Given the description of an element on the screen output the (x, y) to click on. 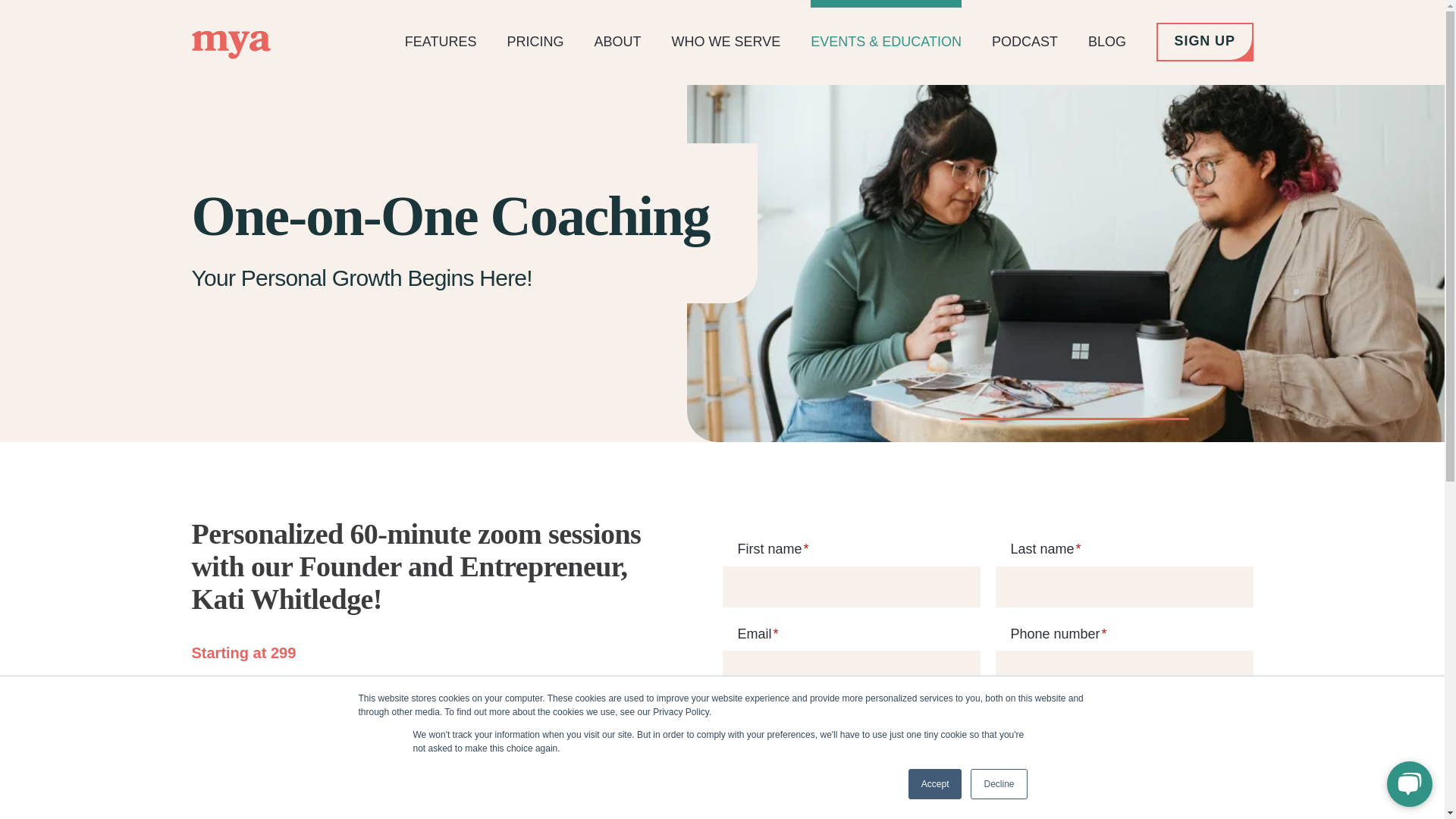
Accept (935, 784)
SIGN UP (1204, 41)
Sign Up (1204, 41)
Decline (998, 784)
WHO WE SERVE (725, 42)
mya (229, 45)
